Given the description of an element on the screen output the (x, y) to click on. 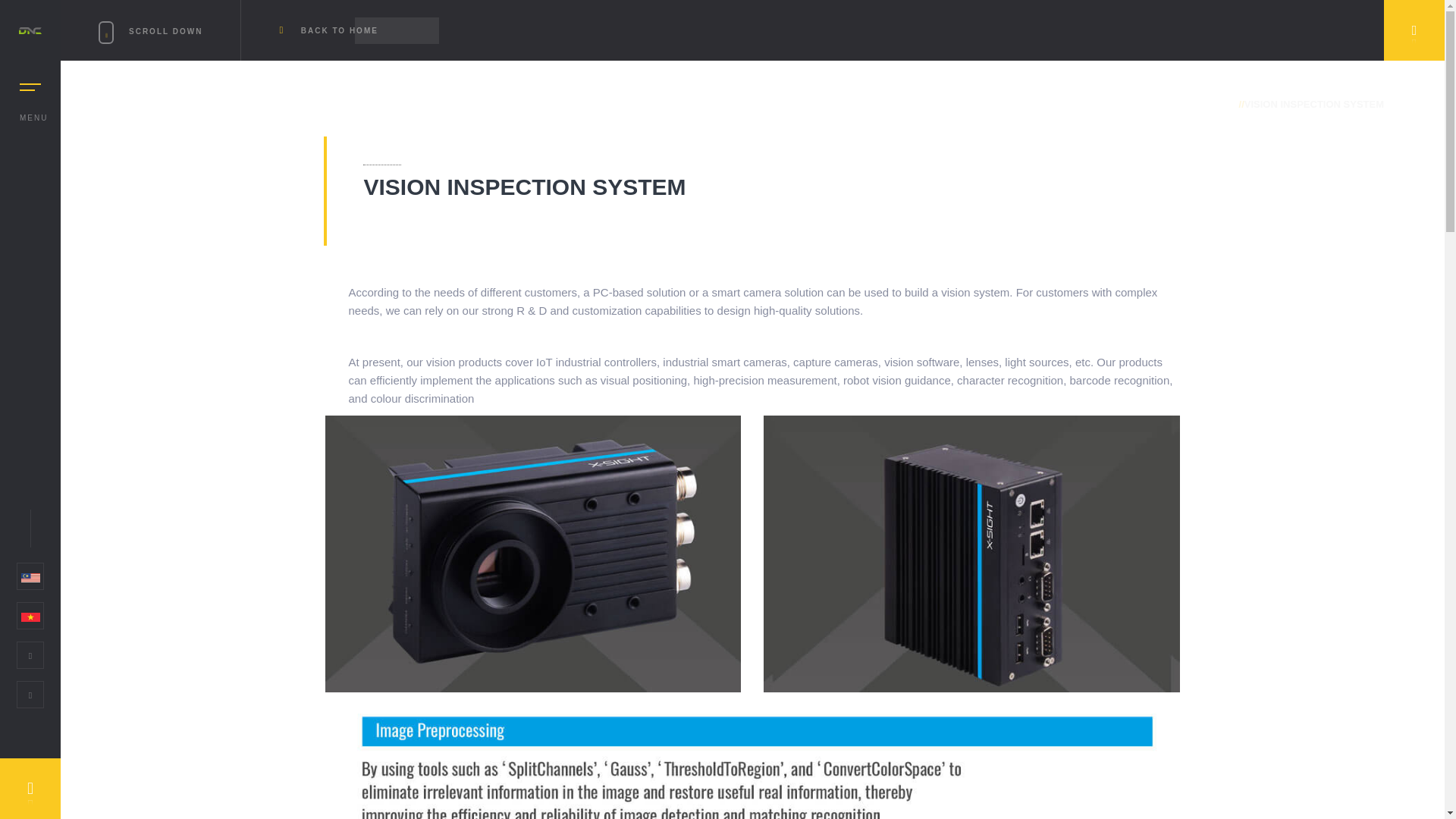
spv-s210 (532, 553)
SCROLL DOWN (170, 30)
sp-v210 (970, 553)
